Given the description of an element on the screen output the (x, y) to click on. 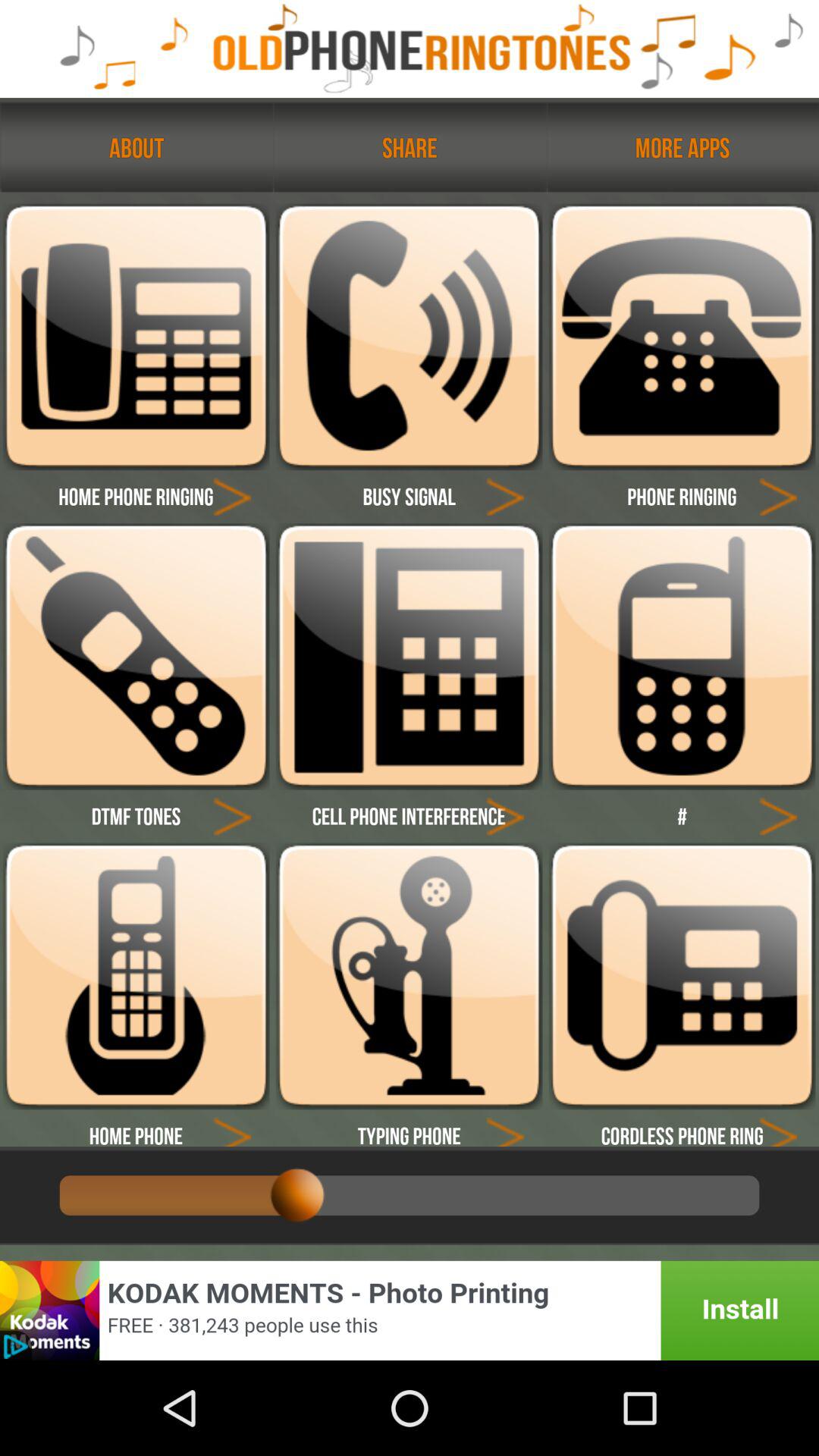
open the ringtone menu (135, 656)
